Given the description of an element on the screen output the (x, y) to click on. 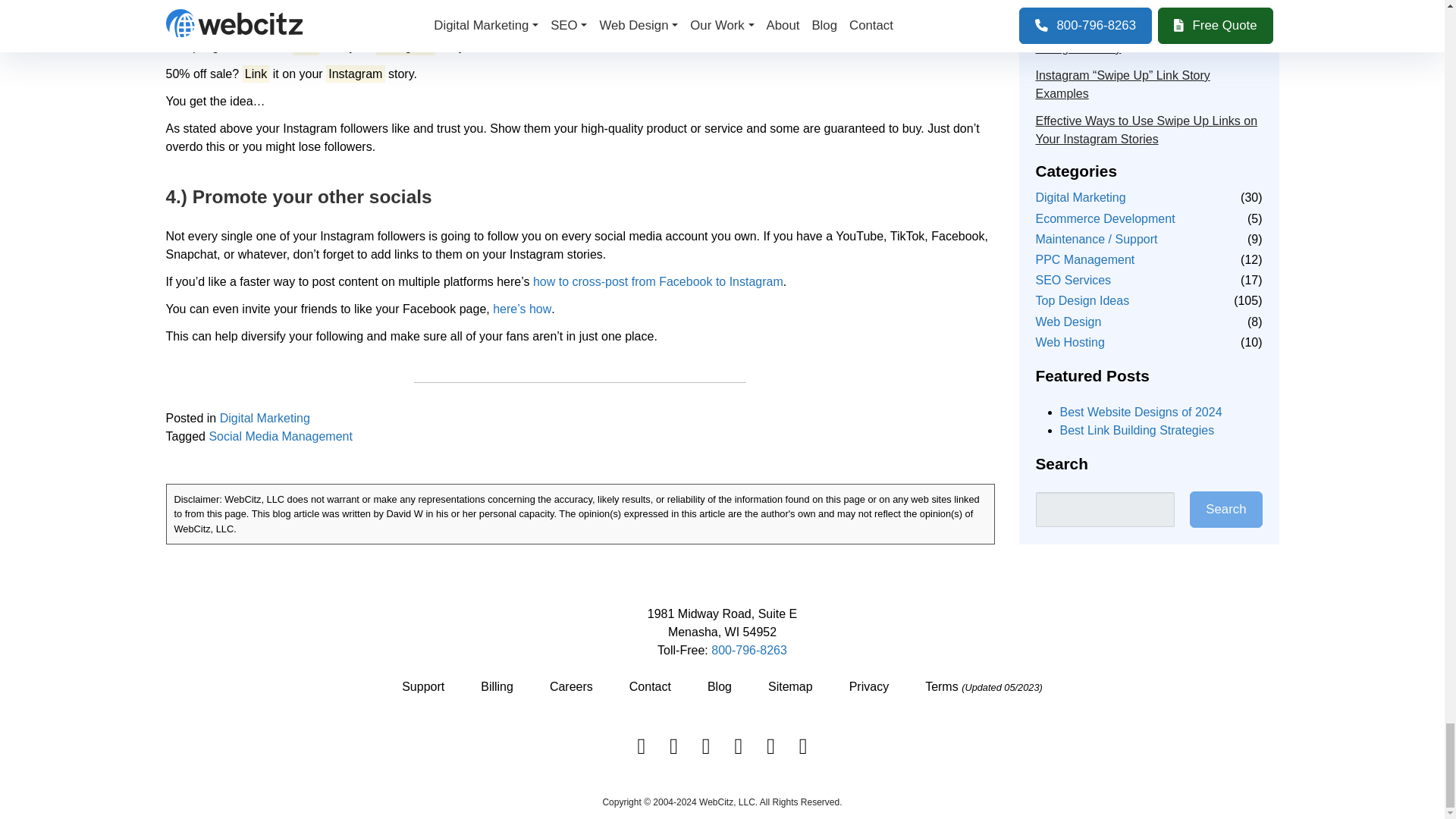
Careers (570, 687)
Contact (650, 687)
Blog (719, 687)
Support (422, 687)
Sitemap (789, 687)
Billing (496, 687)
